Given the description of an element on the screen output the (x, y) to click on. 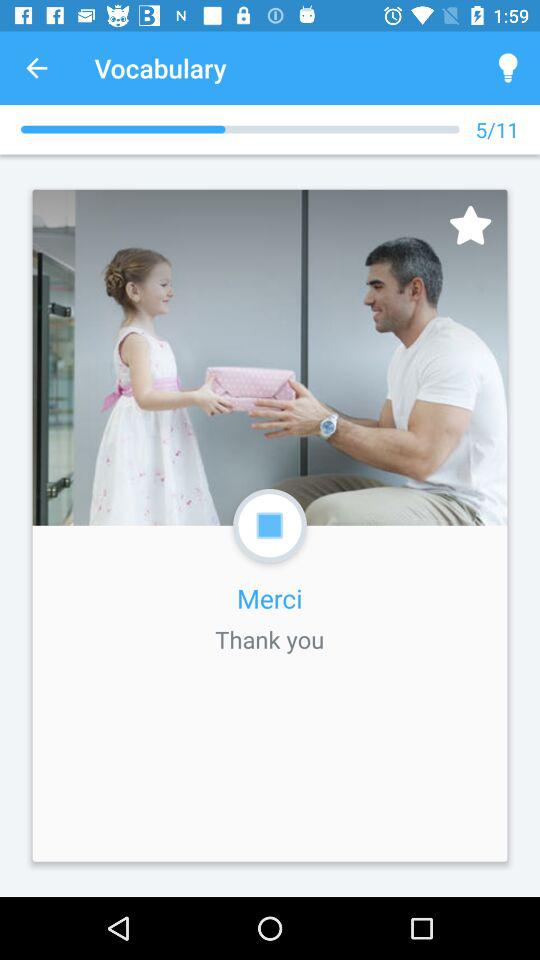
turn off the icon above the 5/11 icon (508, 67)
